Given the description of an element on the screen output the (x, y) to click on. 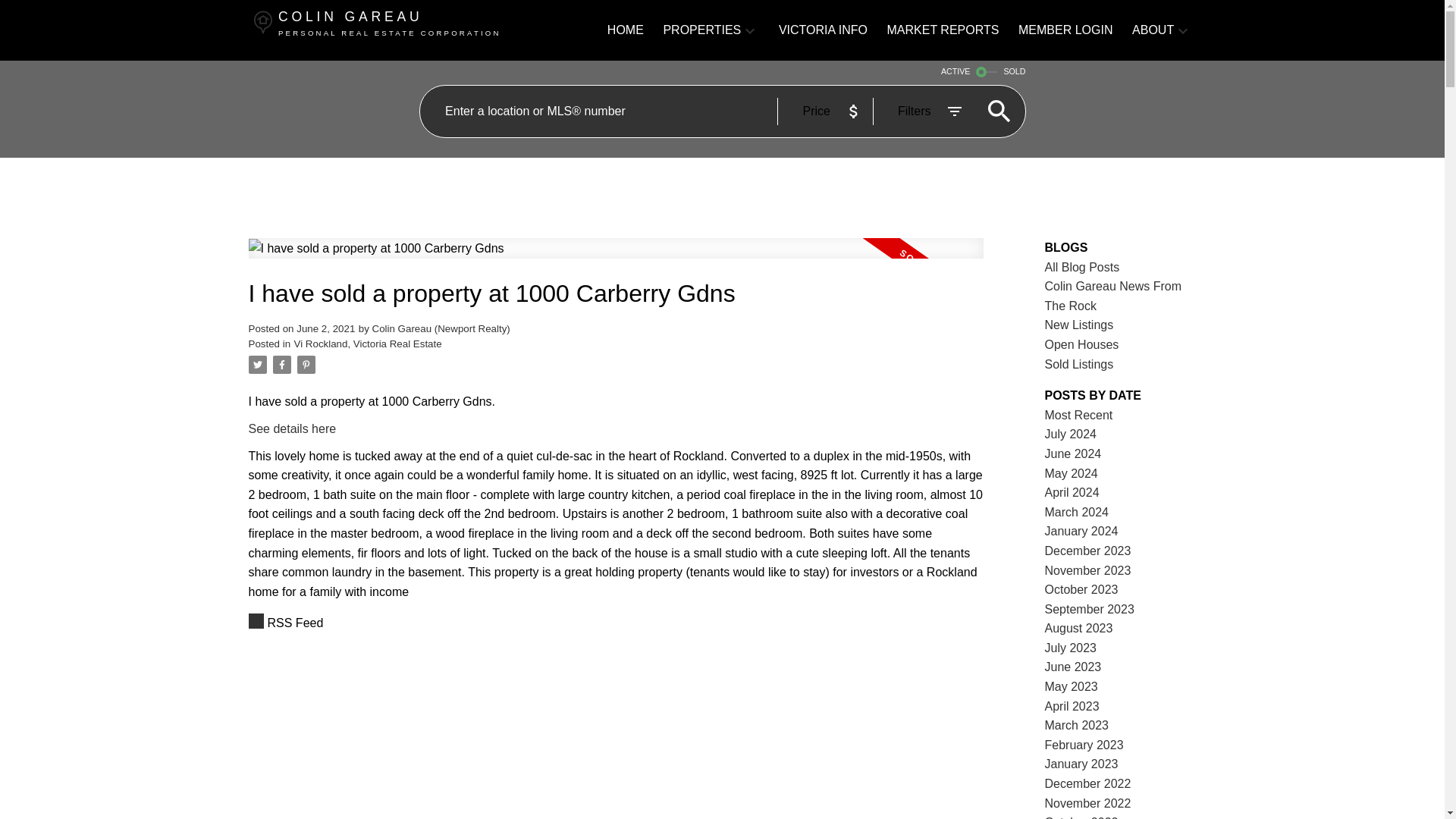
Colin Gareau News From The Rock (1113, 296)
May 2024 (1071, 472)
January 2024 (1081, 530)
Sold Listings (1079, 364)
May 2023 (1071, 686)
October 2023 (1081, 589)
December 2023 (1088, 550)
Most Recent (1079, 414)
MARKET REPORTS (942, 30)
September 2023 (1089, 608)
Open Houses (1082, 344)
VICTORIA INFO (822, 30)
MEMBER LOGIN (1064, 30)
RSS (616, 623)
March 2024 (1077, 512)
